Given the description of an element on the screen output the (x, y) to click on. 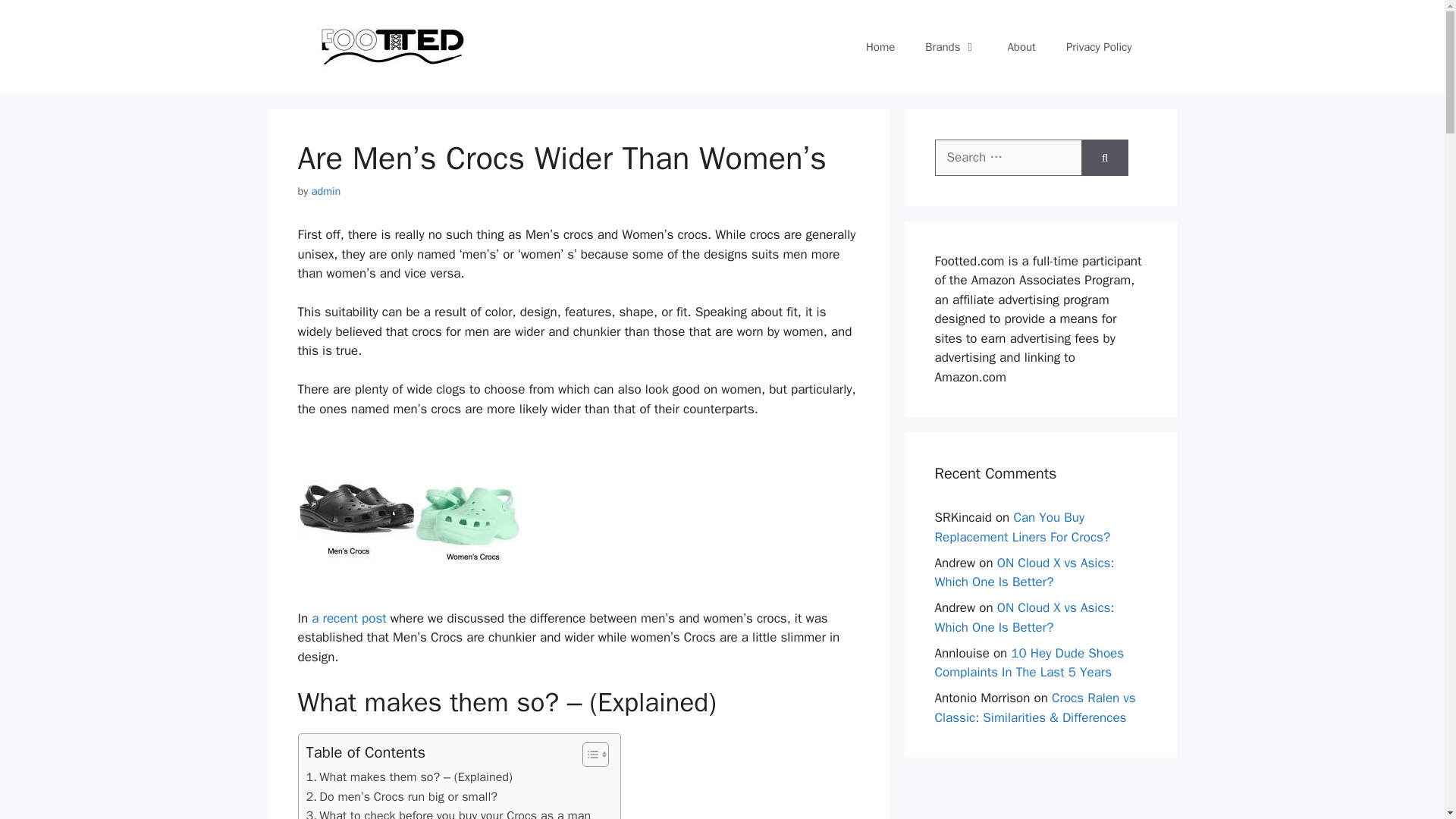
Can You Buy Replacement Liners For Crocs? (1021, 527)
10 Hey Dude Shoes Complaints In The Last 5 Years (1029, 662)
Brands (950, 46)
What to check before you buy your Crocs as a man (448, 812)
View all posts by admin (325, 191)
Search for: (1007, 157)
Home (880, 46)
a recent post (347, 618)
ON Cloud X vs Asics: Which One Is Better? (1023, 572)
ON Cloud X vs Asics: Which One Is Better? (1023, 617)
